Given the description of an element on the screen output the (x, y) to click on. 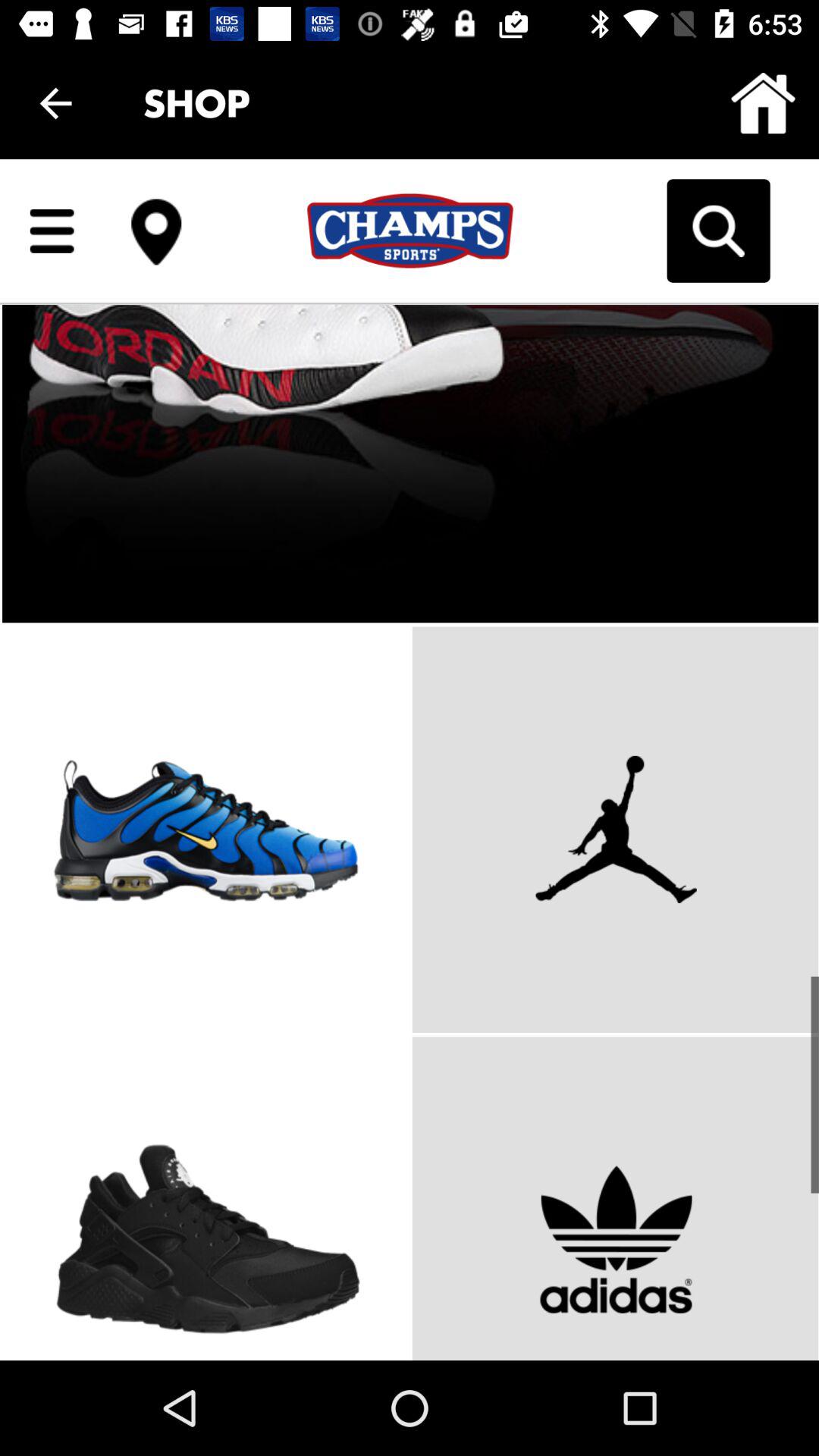
body (409, 759)
